Given the description of an element on the screen output the (x, y) to click on. 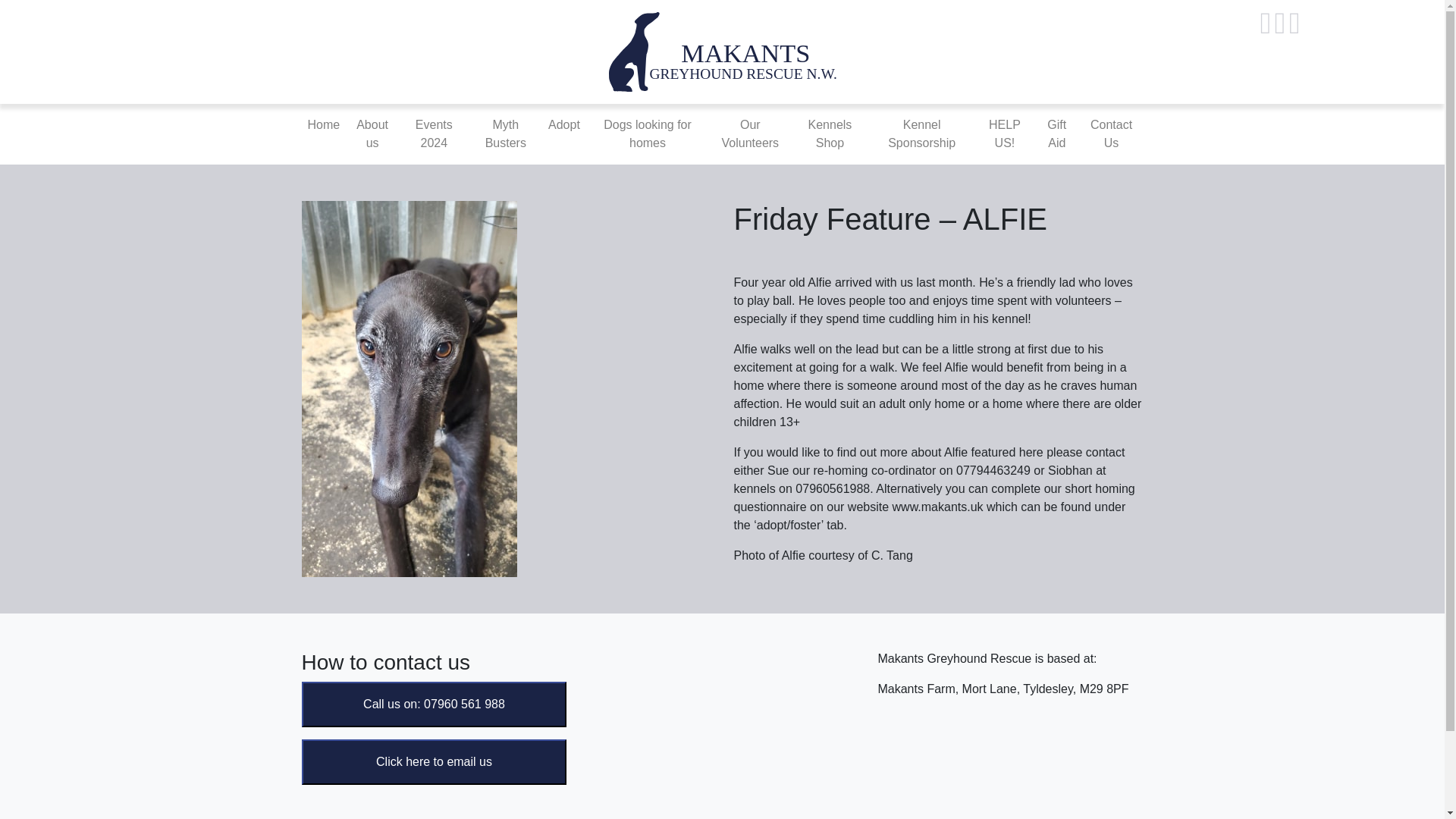
Gift Aid (1056, 133)
Contact Us (1111, 133)
Events 2024 (433, 133)
About us (372, 133)
Makants Greyhound Rescue N.W (721, 51)
Myth Busters (504, 133)
Home (323, 124)
Call us on: 07960 561 988 (434, 704)
Our Volunteers (749, 133)
About us (372, 133)
